Given the description of an element on the screen output the (x, y) to click on. 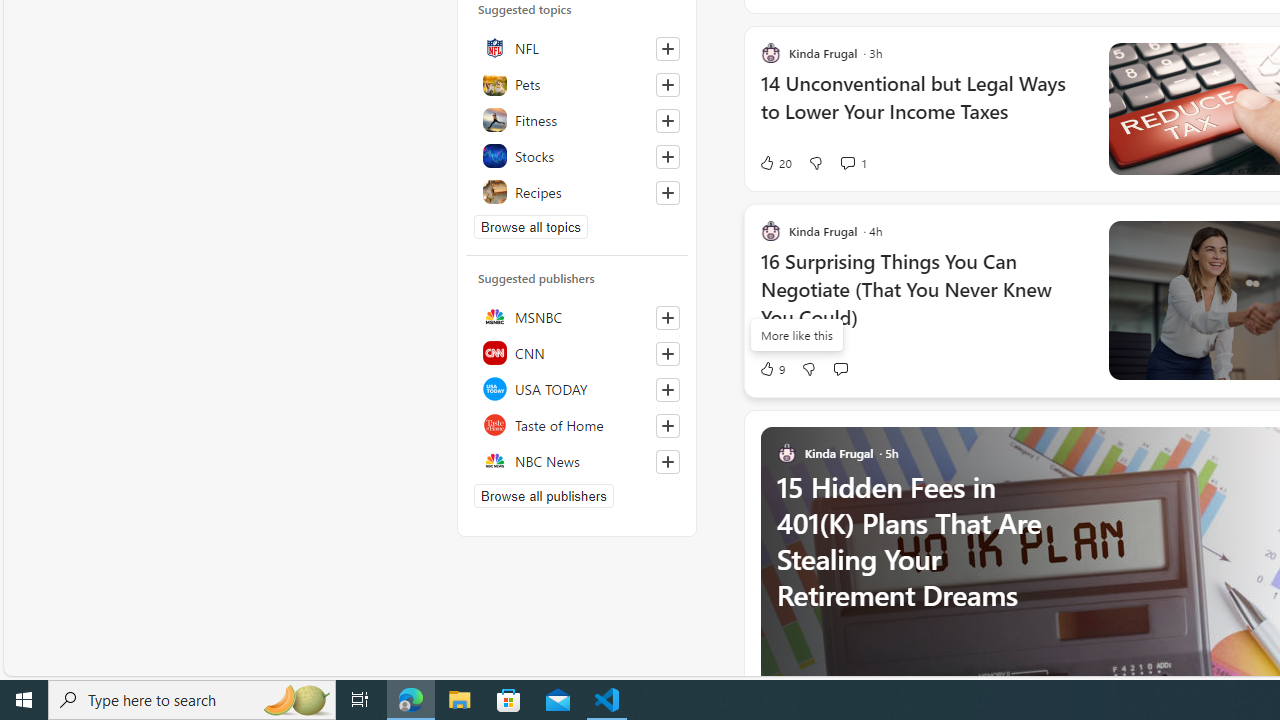
Follow this source (667, 461)
Pets (577, 83)
NFL (577, 47)
USA TODAY (577, 389)
9 Like (771, 368)
Taste of Home (577, 425)
Browse all topics (530, 227)
Follow this topic (667, 192)
Stocks (577, 155)
Start the conversation (840, 368)
Start the conversation (840, 368)
Fitness (577, 119)
